Given the description of an element on the screen output the (x, y) to click on. 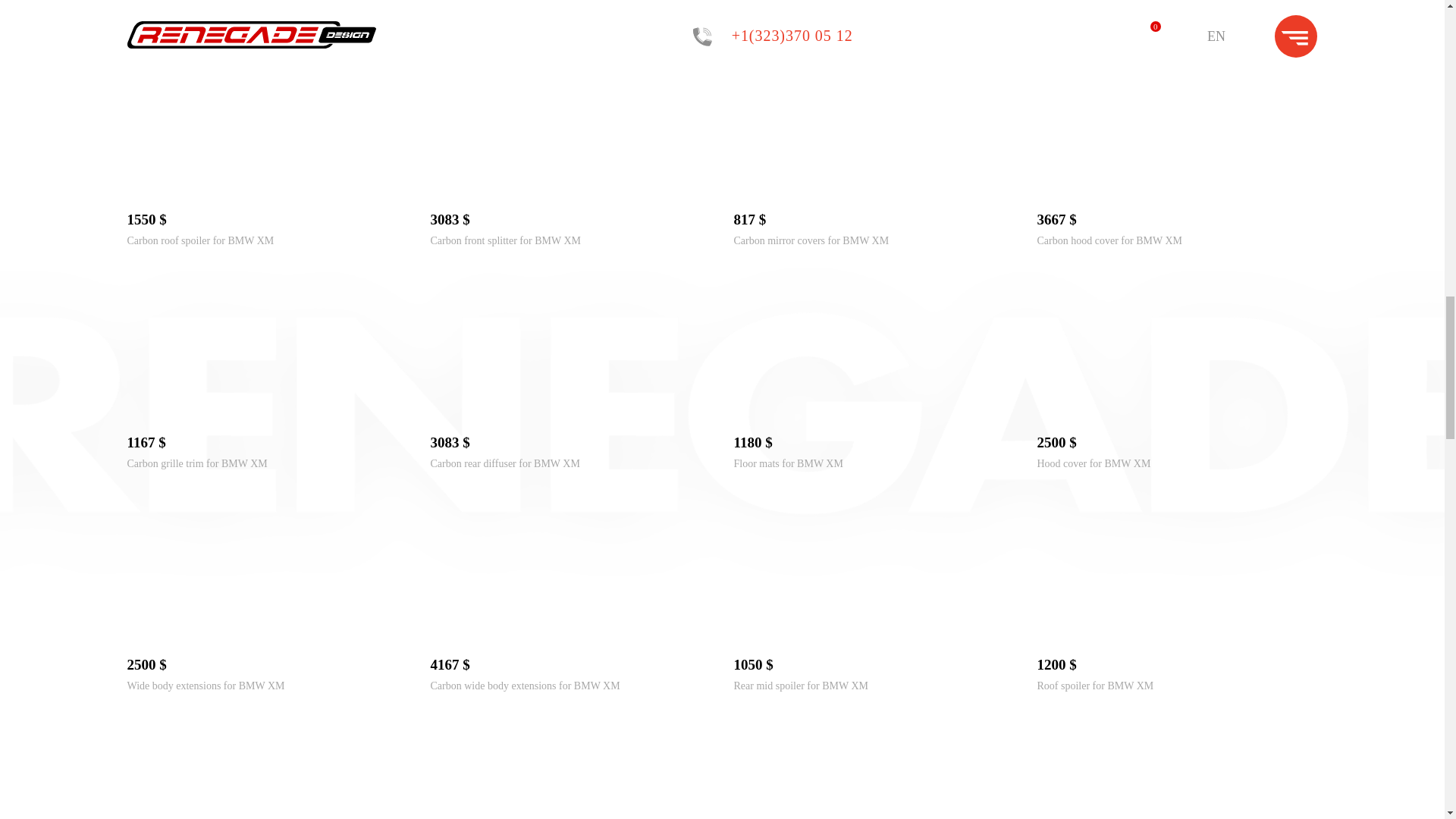
Hood for BMW XM (777, 18)
Akrapovic exhaust system for BMW XM G09 (528, 18)
Carbon front splitter for BMW XM (570, 188)
Carbon hood cover for BMW XM (1176, 188)
Carbon roof spoiler for BMW XM (201, 240)
Hood for BMW XM (777, 18)
Carbon mirror covers for BMW XM (811, 240)
Akrapovic exhaust system for BMW XM G09 (528, 18)
Carbon hood for BMW XM (1096, 18)
Carbon mirror covers for BMW XM (873, 188)
Carbon front splitter for BMW XM (505, 240)
Capristo exhaust for BMW XM G09 (205, 18)
Carbon roof spoiler for BMW XM (267, 188)
Capristo exhaust for BMW XM G09 (205, 18)
